Given the description of an element on the screen output the (x, y) to click on. 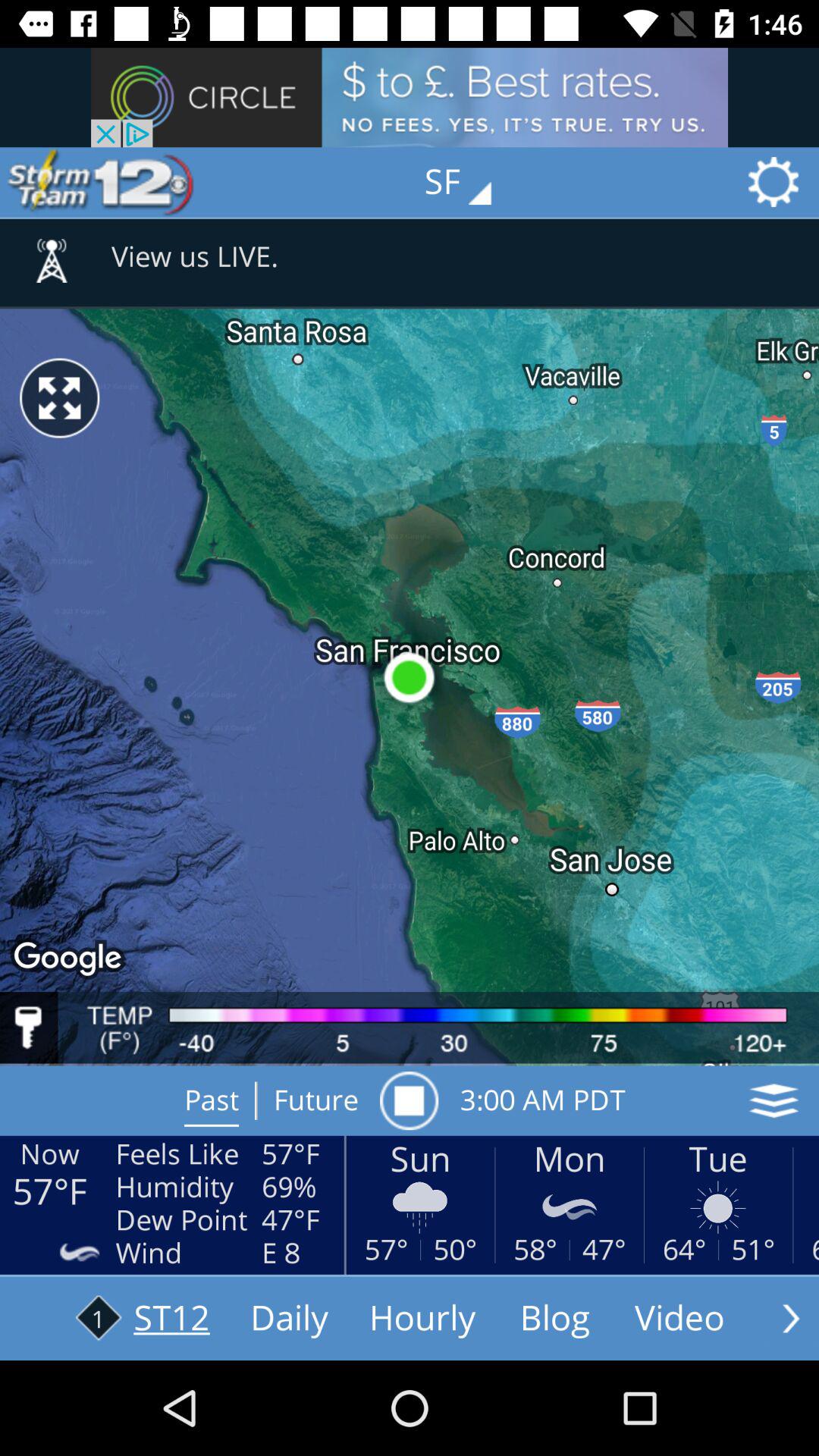
jump until sf icon (468, 182)
